Given the description of an element on the screen output the (x, y) to click on. 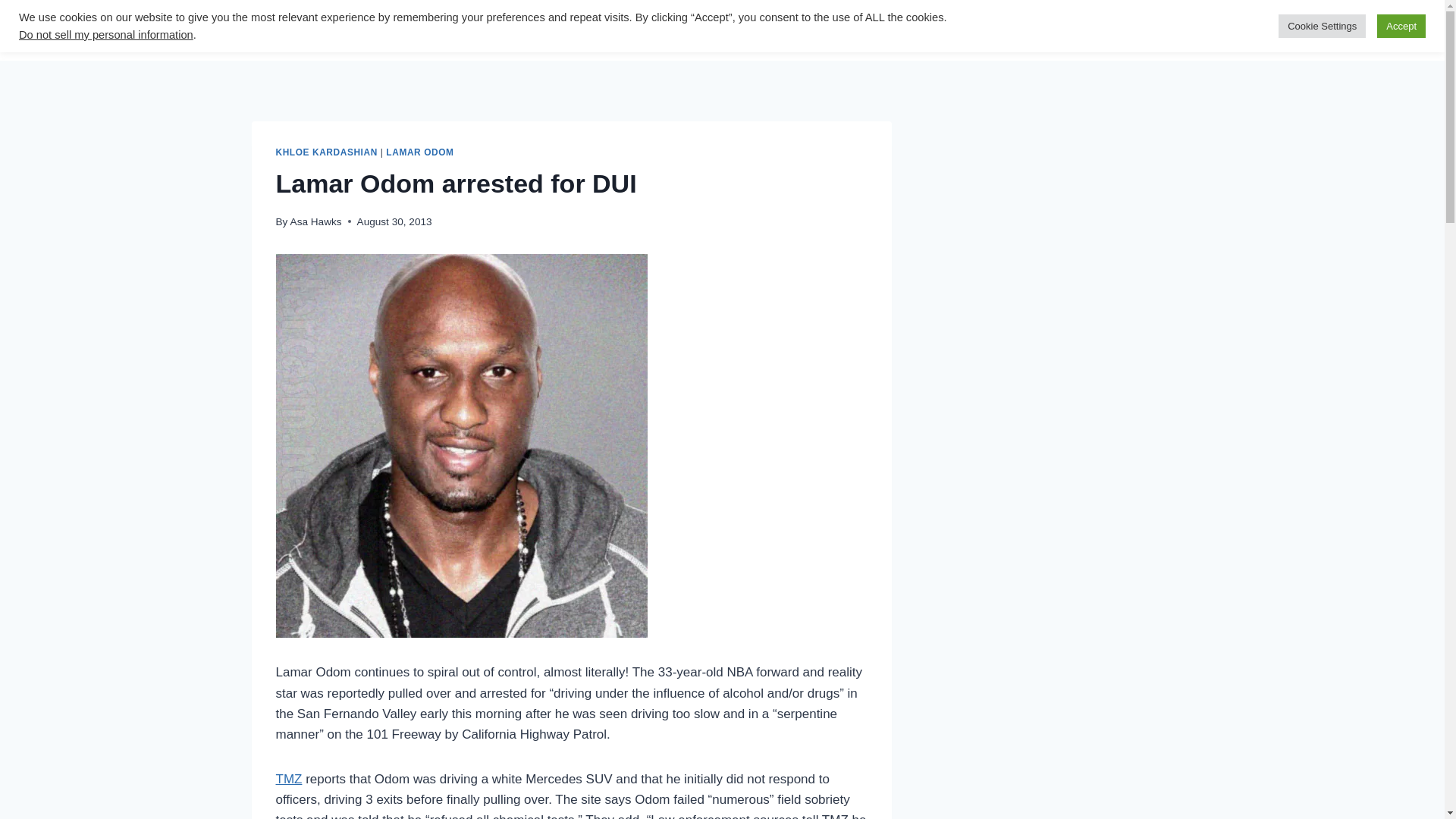
KHLOE KARDASHIAN (326, 152)
TMZ (289, 779)
Search (604, 30)
Search (604, 30)
LAMAR ODOM (418, 152)
Asa Hawks (315, 221)
Search (604, 30)
